Given the description of an element on the screen output the (x, y) to click on. 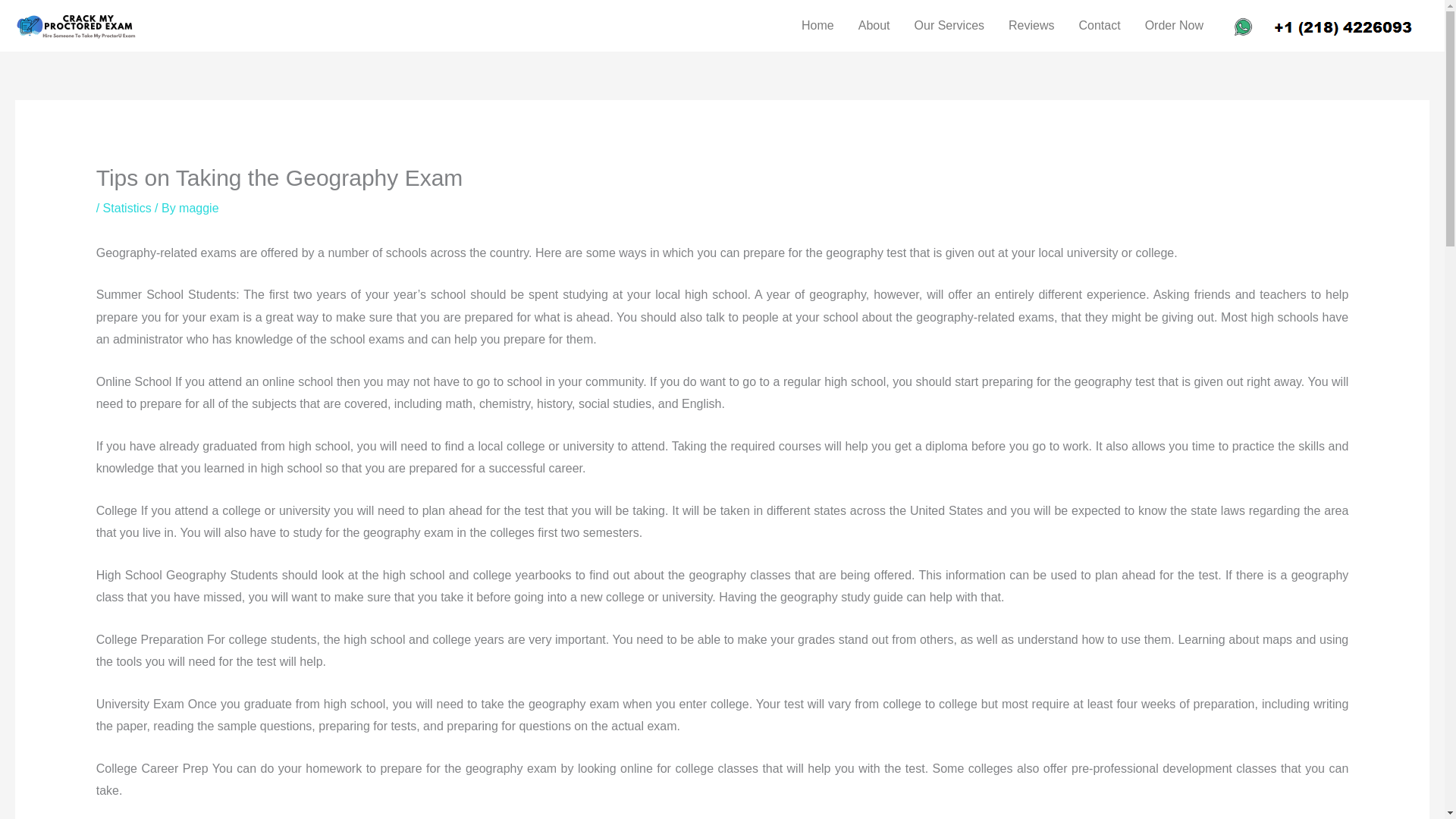
Home (817, 25)
About (873, 25)
Reviews (1030, 25)
Our Services (948, 25)
maggie (198, 207)
Statistics (127, 207)
Contact (1098, 25)
View all posts by maggie (198, 207)
Order Now (1173, 25)
